Given the description of an element on the screen output the (x, y) to click on. 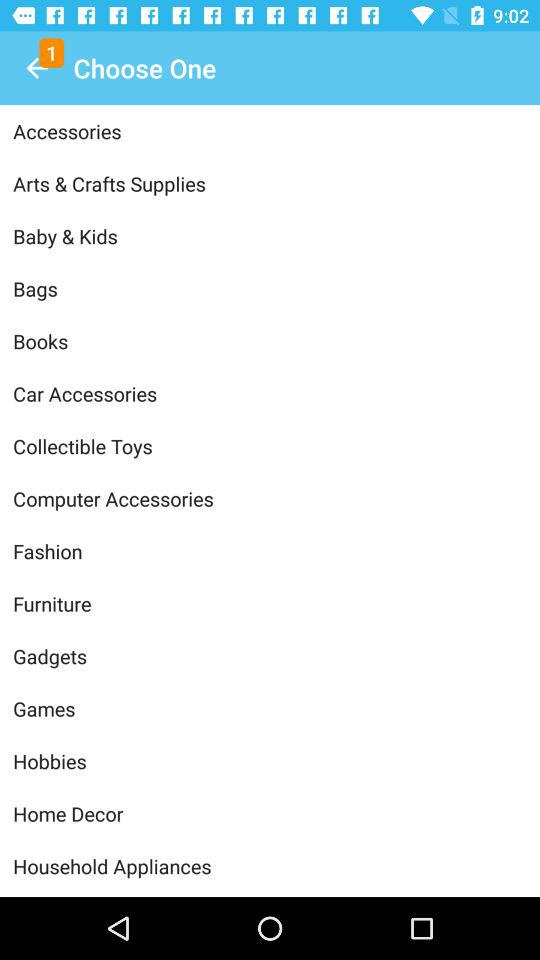
turn off the item below games item (269, 761)
